Given the description of an element on the screen output the (x, y) to click on. 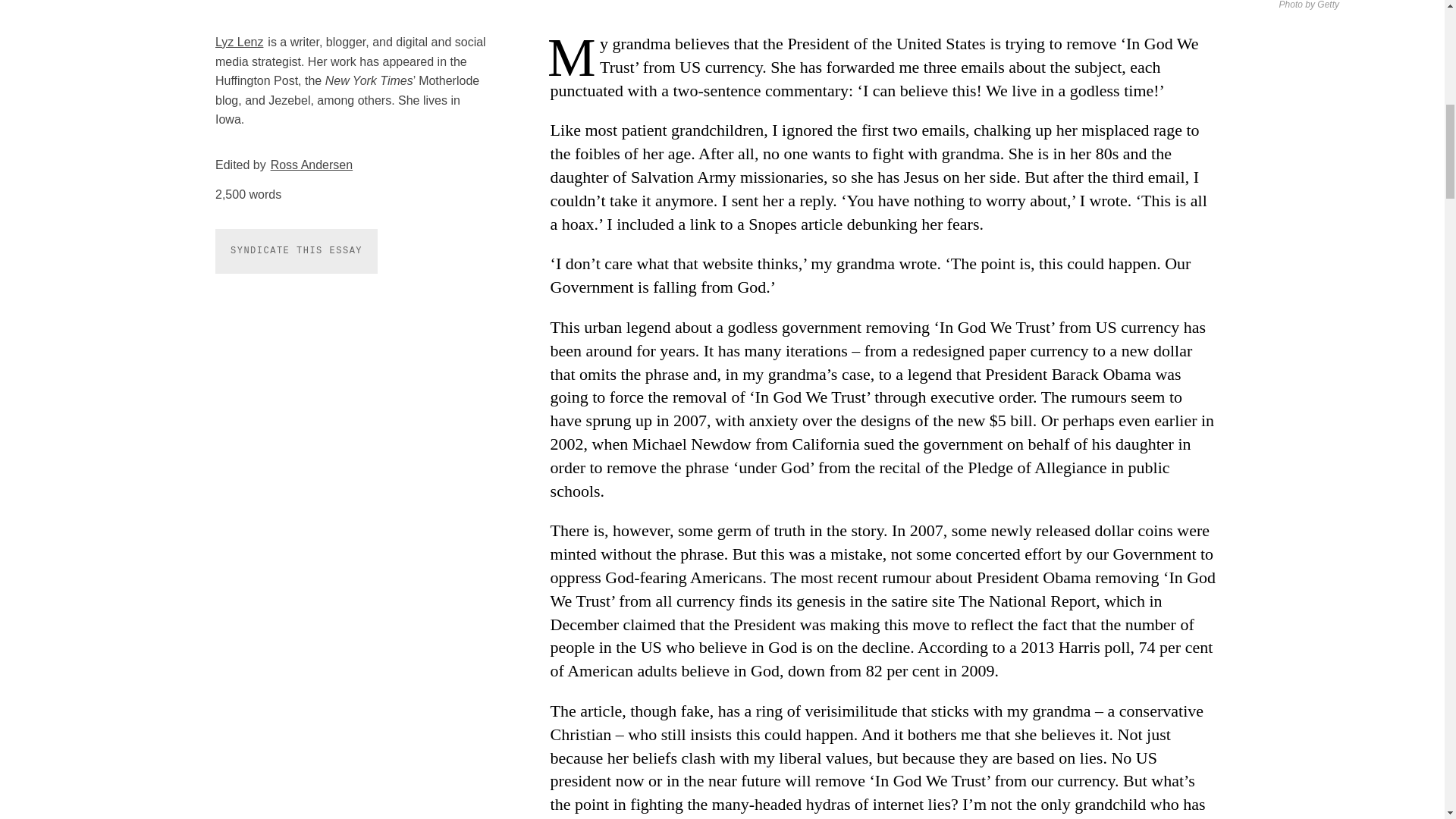
Lyz Lenz (239, 42)
Ross Andersen (311, 164)
SYNDICATE THIS ESSAY (296, 251)
